Given the description of an element on the screen output the (x, y) to click on. 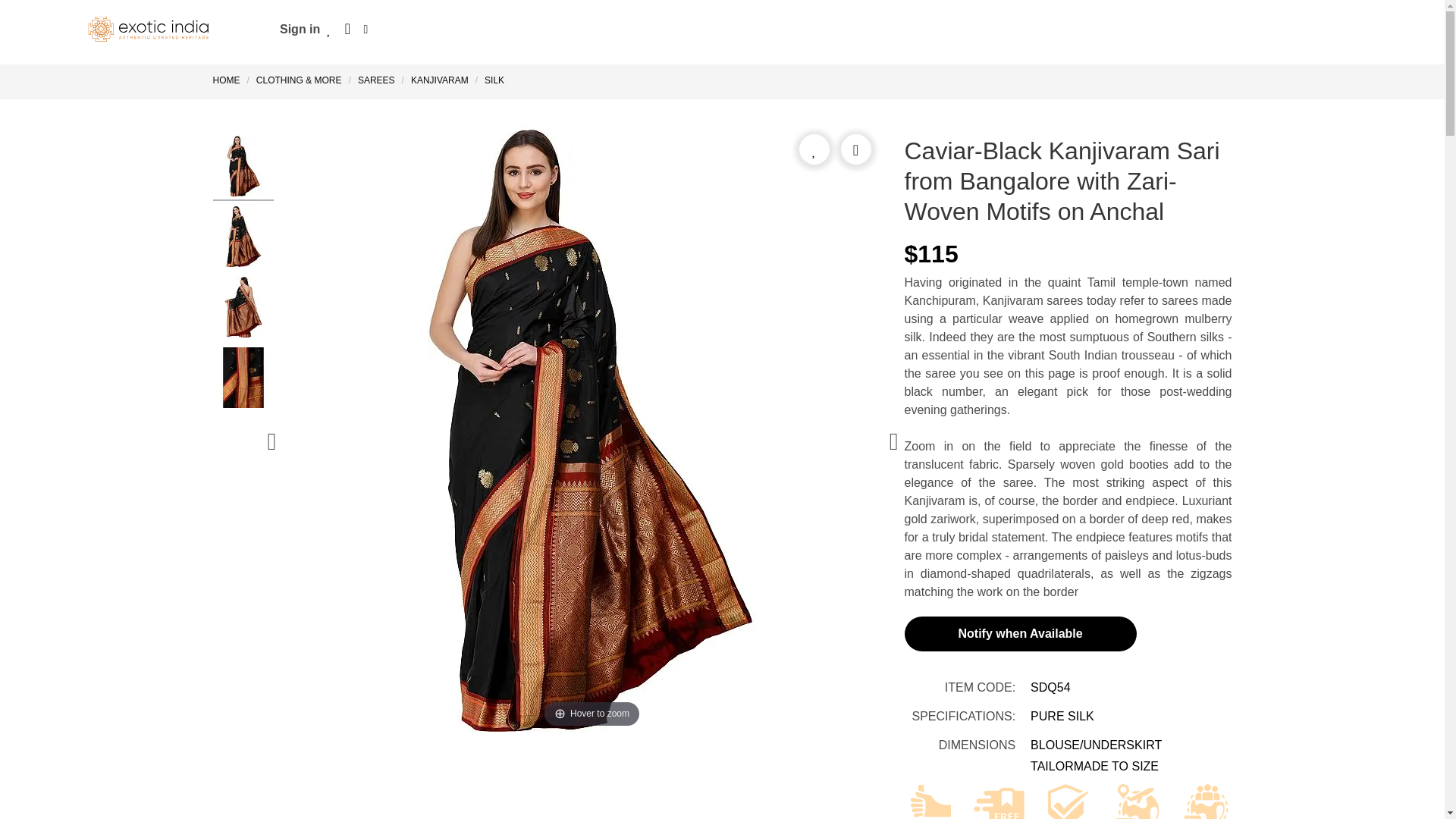
SAREES (375, 79)
Kanjivaram (440, 79)
Home (229, 79)
Wishlist (328, 29)
SILK (494, 79)
HOME (229, 79)
Sarees (375, 79)
KANJIVARAM (440, 79)
Sign in (299, 29)
Save to Wishlist (814, 149)
Silk (494, 79)
Sign in (299, 29)
